Given the description of an element on the screen output the (x, y) to click on. 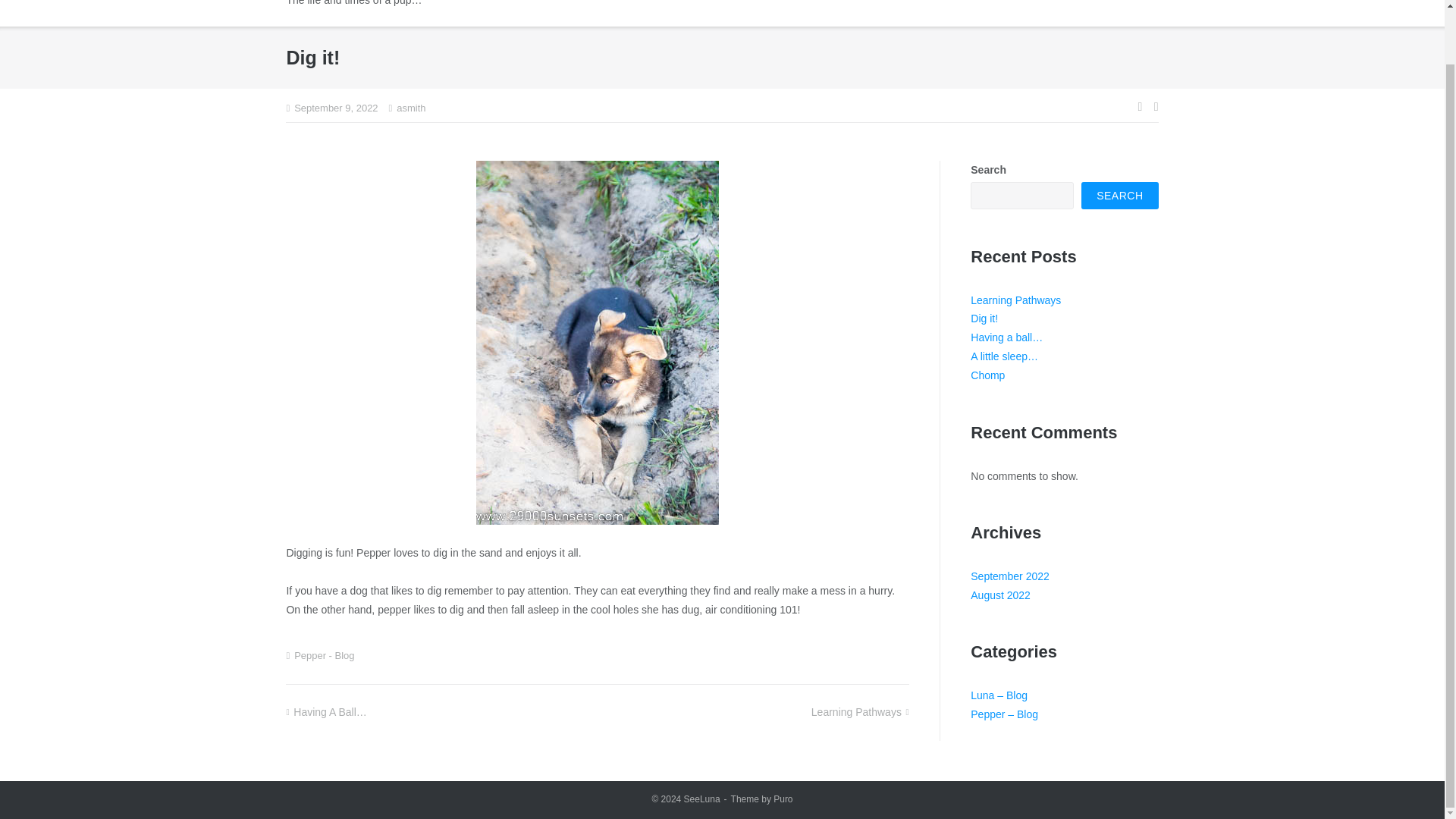
German Shepherds (1032, 13)
Dig it! (984, 318)
Puro (782, 798)
Home (658, 13)
SEARCH (1119, 195)
Chomp (987, 375)
About (1114, 13)
SeeLuna (702, 798)
Books and Videos (921, 13)
August 2022 (1000, 594)
